Given the description of an element on the screen output the (x, y) to click on. 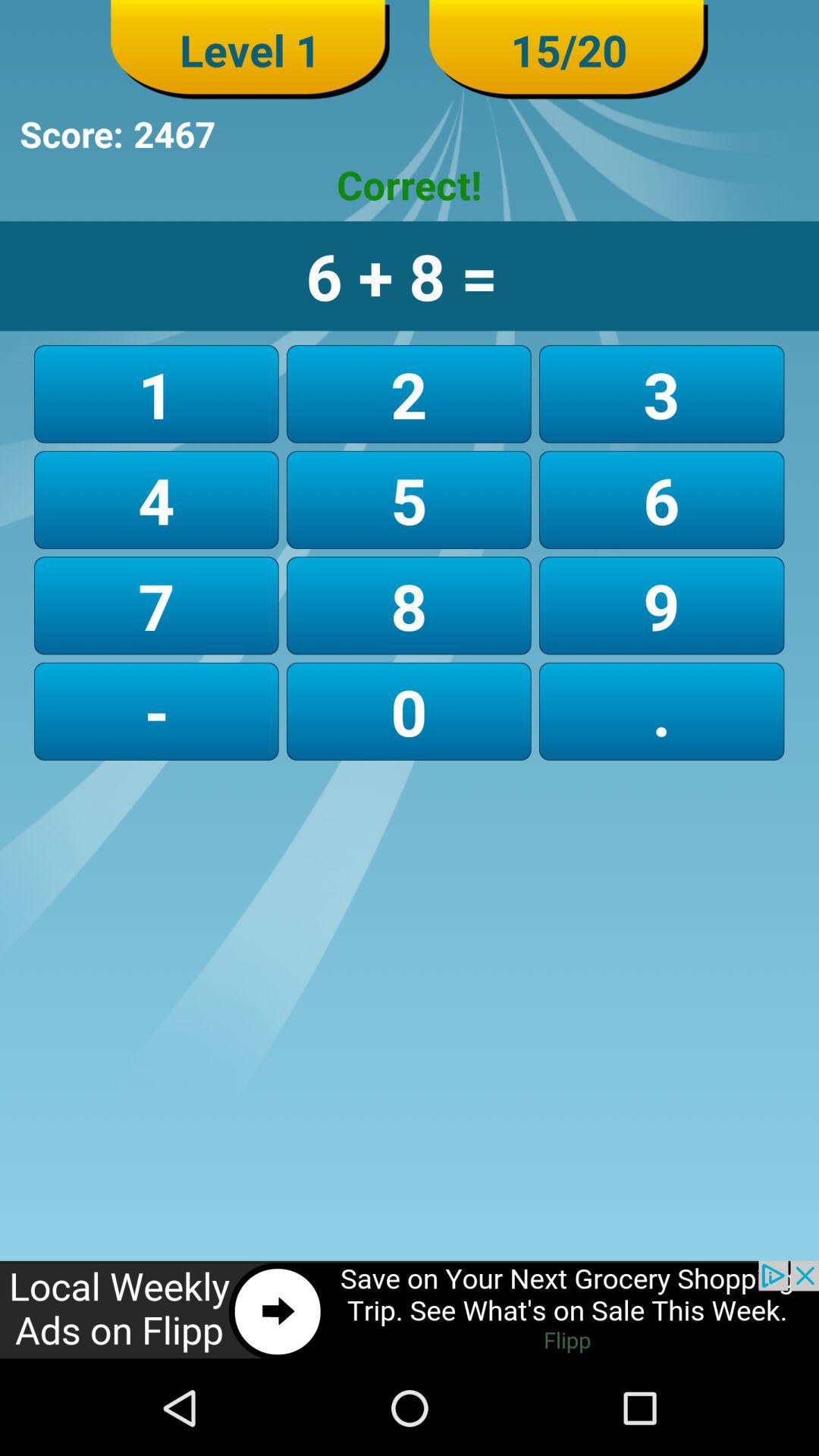
jump to - button (156, 711)
